Given the description of an element on the screen output the (x, y) to click on. 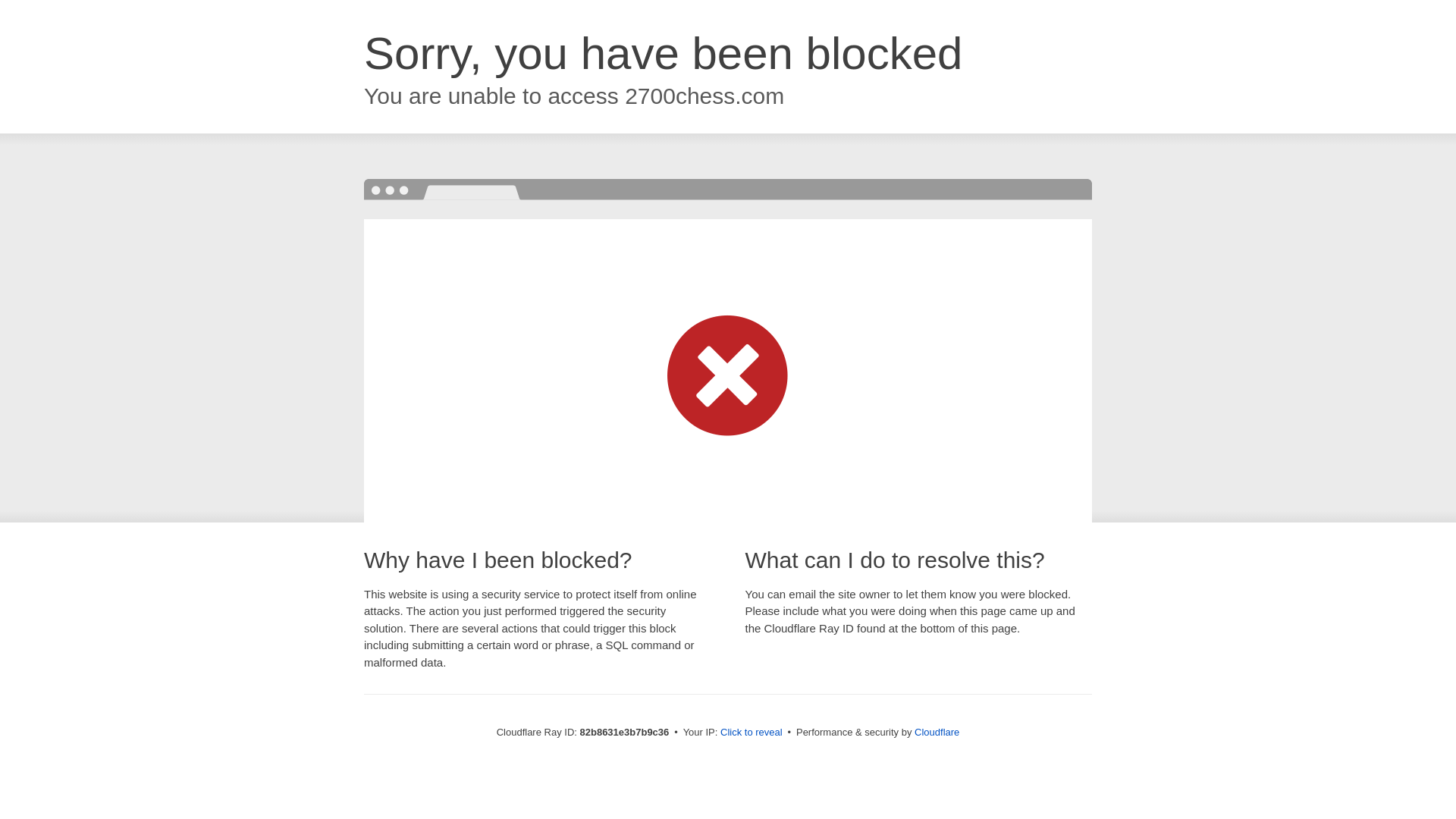
Click to reveal Element type: text (751, 732)
Cloudflare Element type: text (936, 731)
